Given the description of an element on the screen output the (x, y) to click on. 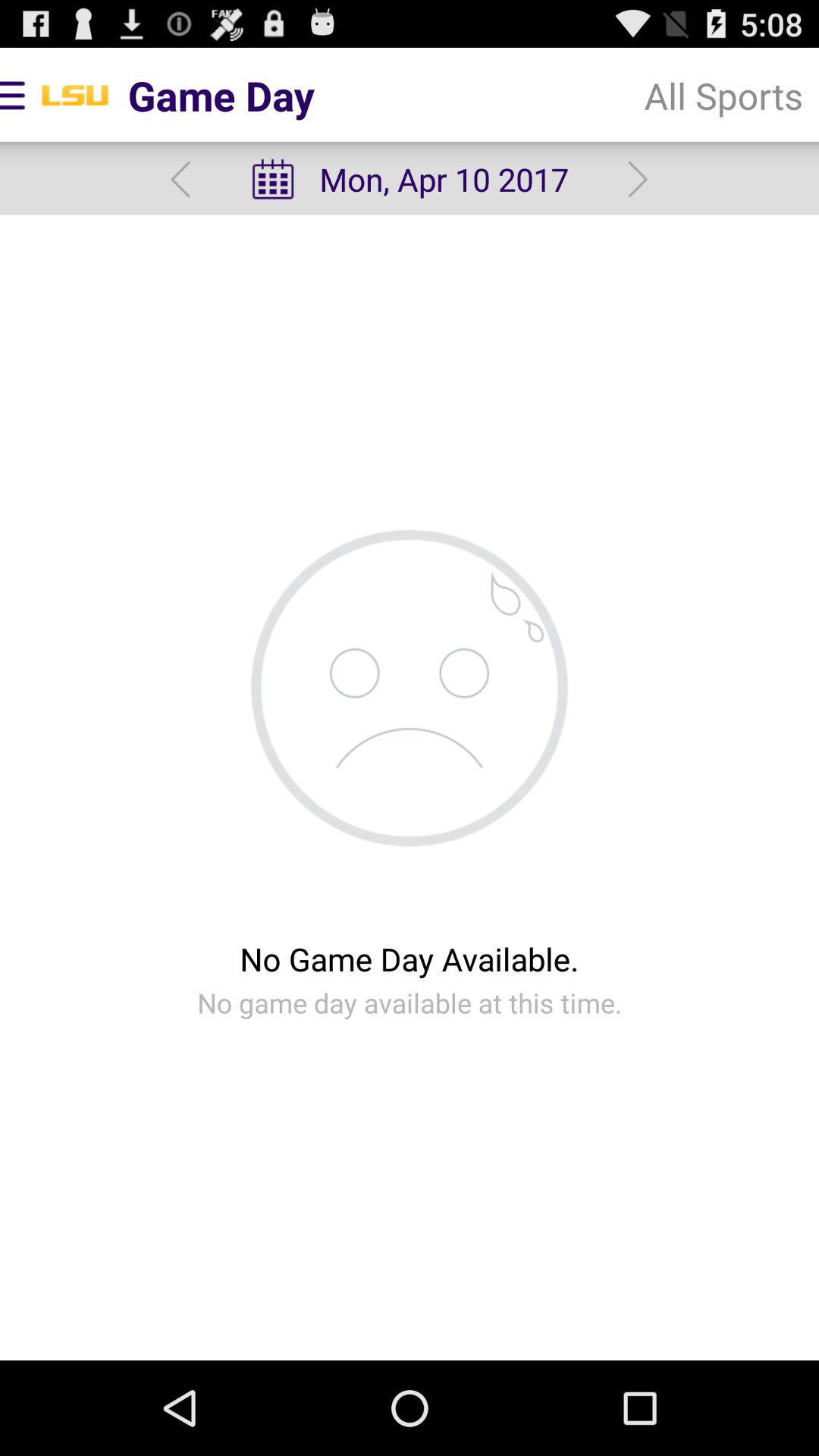
turn on item next to mon apr 10 (637, 178)
